Given the description of an element on the screen output the (x, y) to click on. 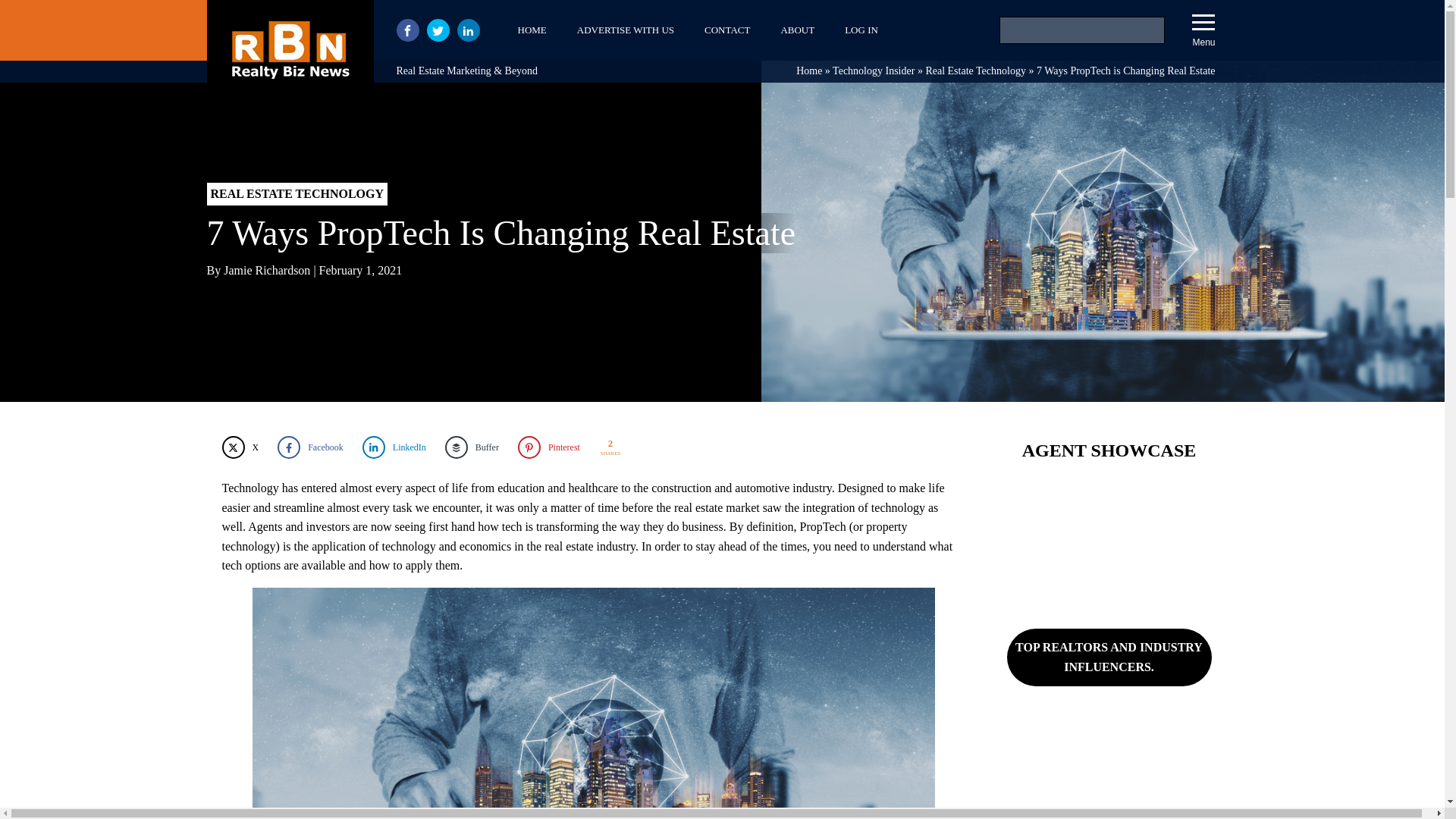
Home (809, 70)
Real Estate Technology (975, 70)
Home (809, 70)
CONTACT (726, 30)
ABOUT (797, 30)
Real Estate Technology (975, 70)
Technology Insider (873, 70)
HOME (531, 30)
ADVERTISE WITH US (625, 30)
Technology Insider (873, 70)
